Given the description of an element on the screen output the (x, y) to click on. 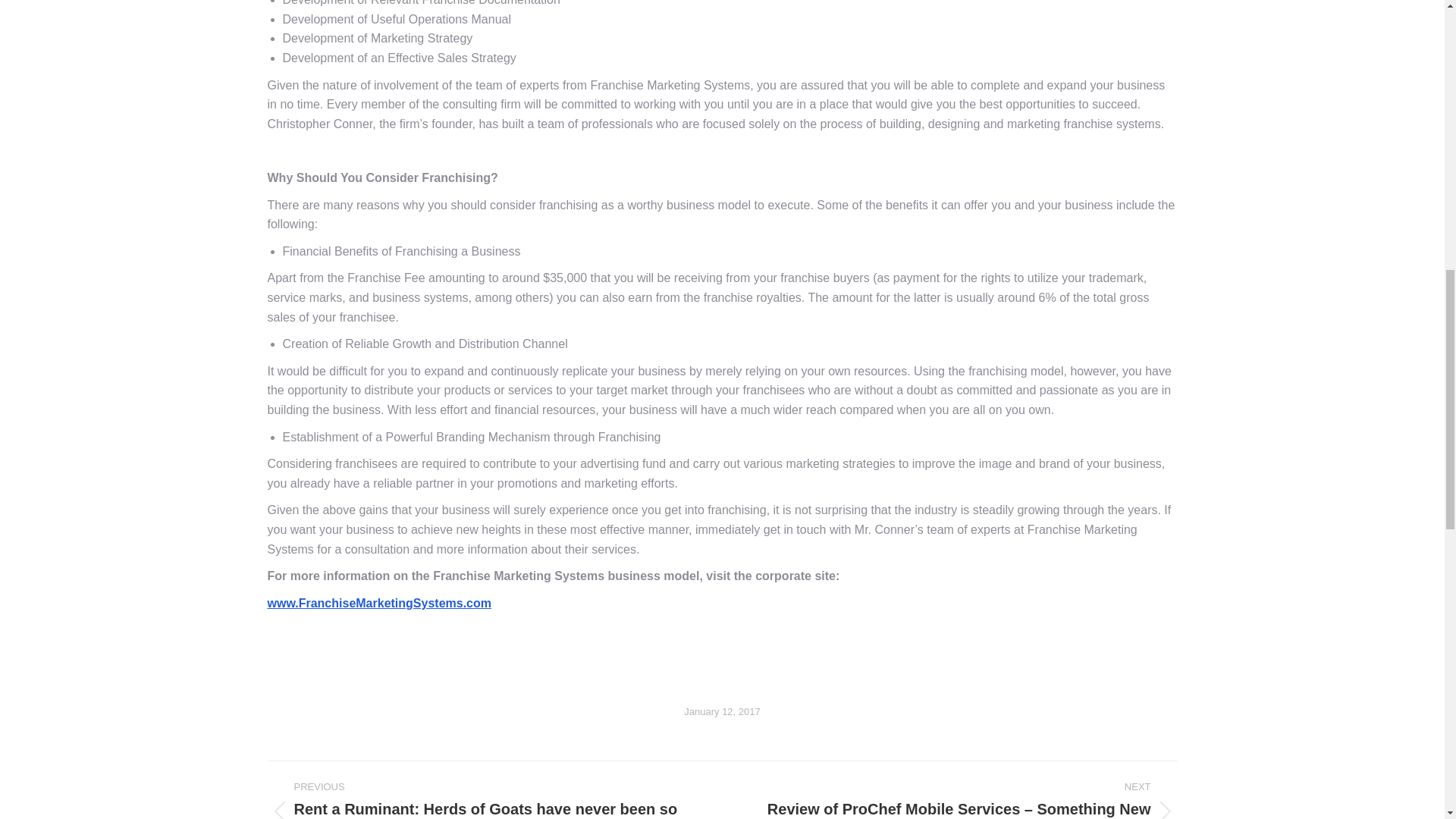
www.FranchiseMarketingSystems.com (379, 603)
January 12, 2017 (722, 712)
12:39 am (722, 712)
